Given the description of an element on the screen output the (x, y) to click on. 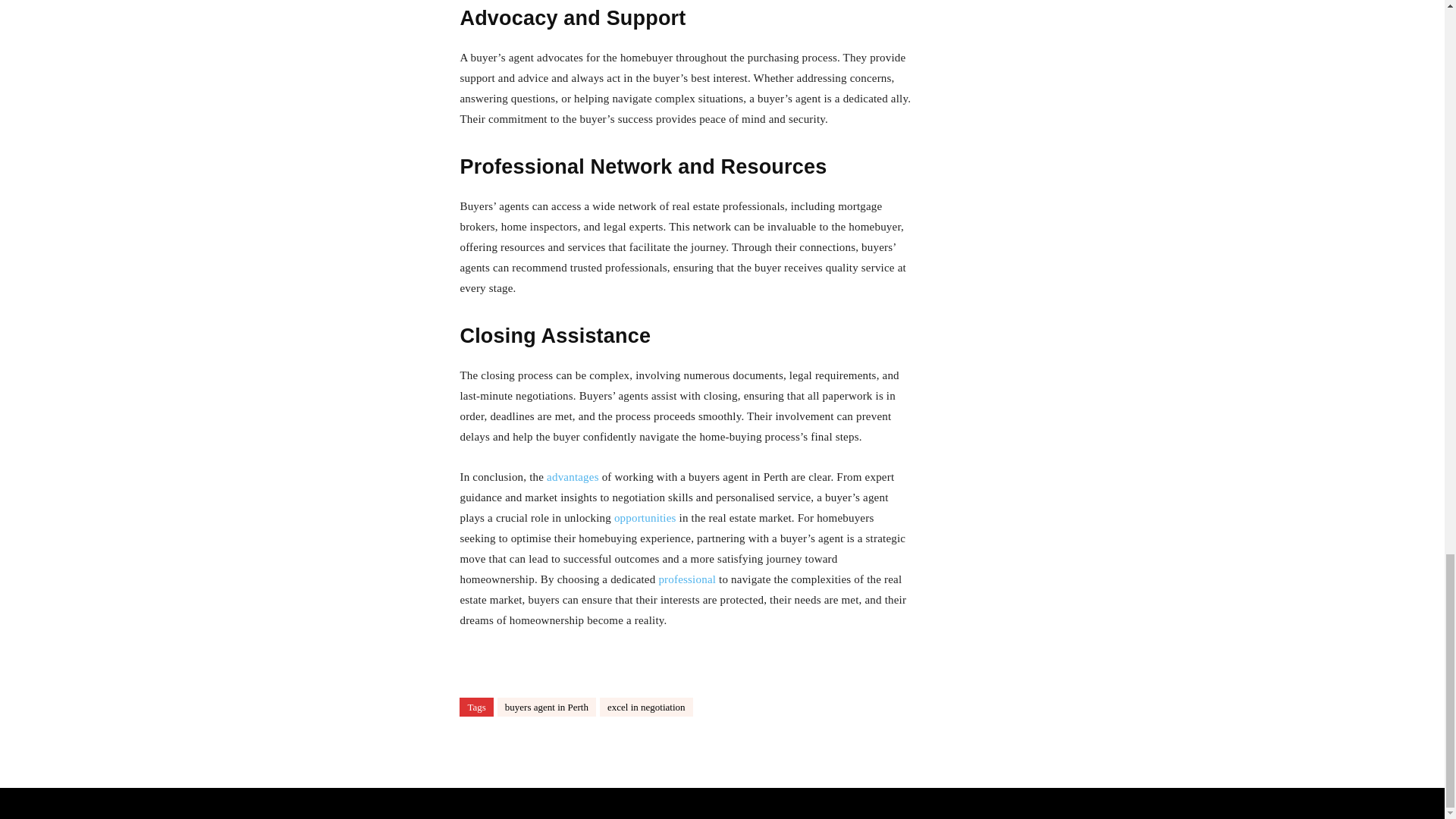
opportunities (645, 517)
advantages (572, 476)
